Given the description of an element on the screen output the (x, y) to click on. 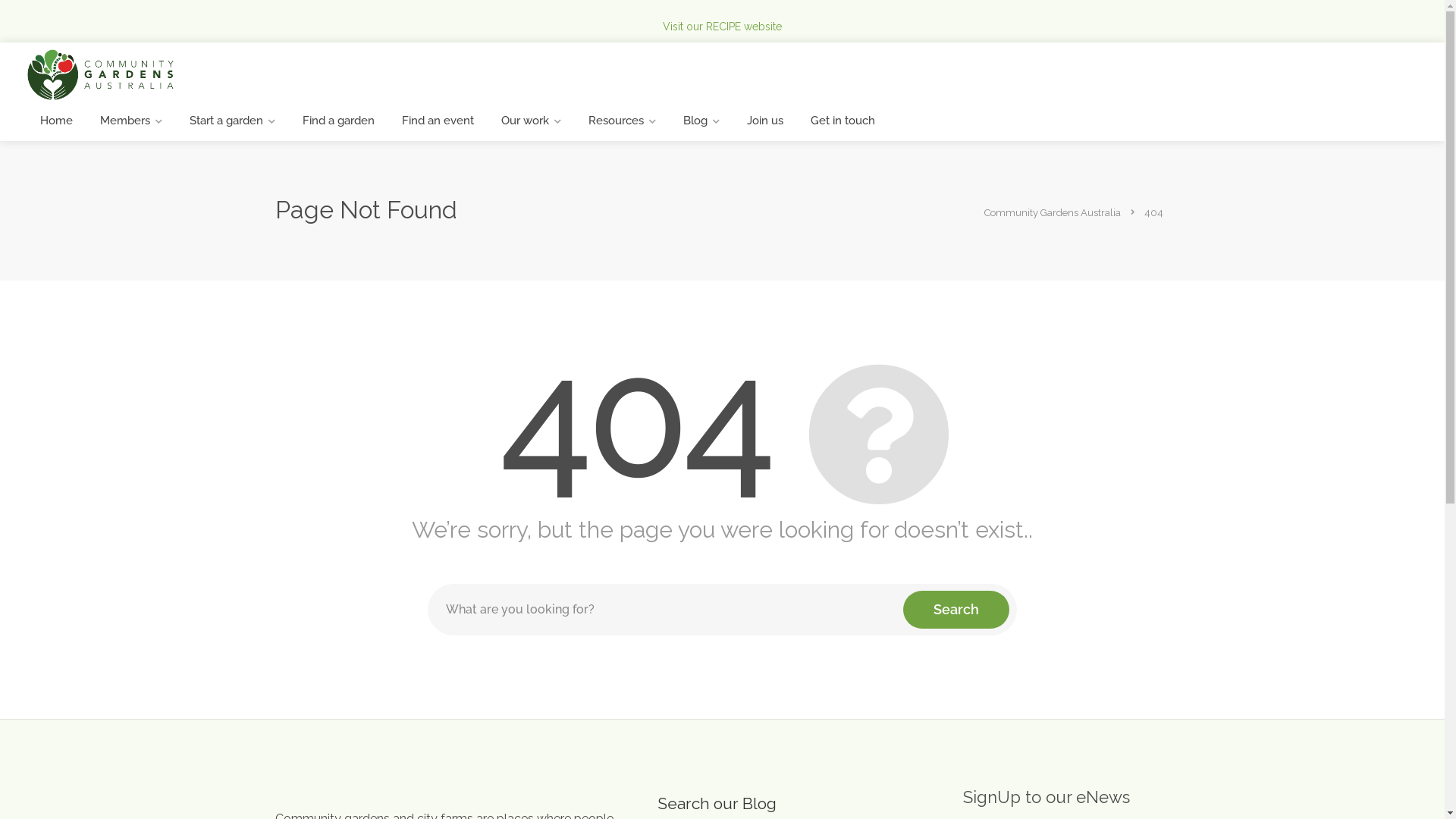
Our work Element type: text (530, 120)
Join us Element type: text (764, 120)
Blog Element type: text (701, 120)
Visit our RECIPE website Element type: text (721, 26)
Find an event Element type: text (437, 120)
Search Element type: text (956, 609)
Members Element type: text (130, 120)
Home Element type: text (56, 120)
Community Gardens Australia Element type: text (1053, 211)
Community Gardens Australia Element type: hover (100, 73)
Find a garden Element type: text (338, 120)
Get in touch Element type: text (842, 120)
Resources Element type: text (622, 120)
Start a garden Element type: text (232, 120)
404 Element type: text (1153, 211)
